Given the description of an element on the screen output the (x, y) to click on. 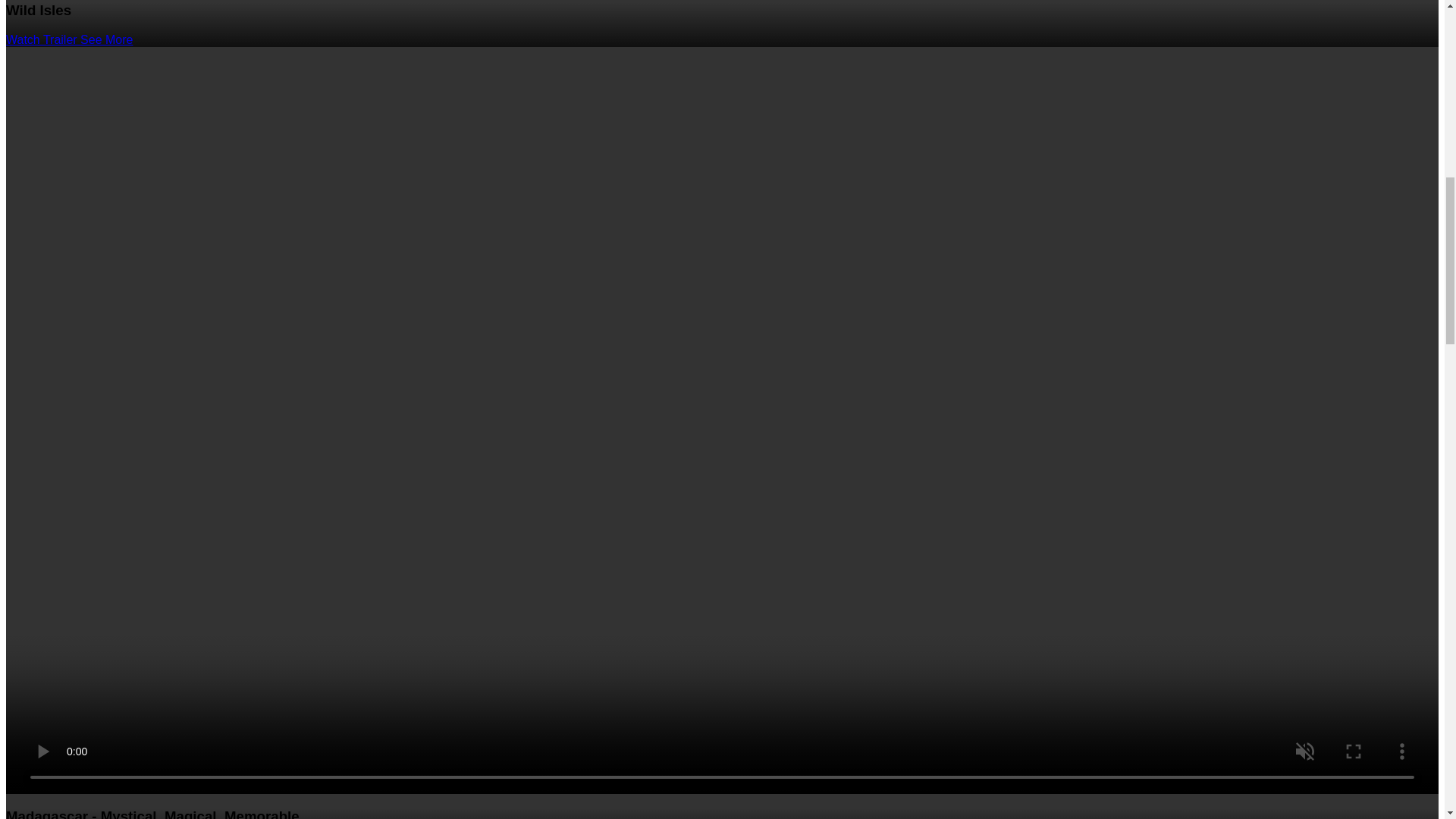
See More (106, 39)
Watch Trailer (42, 39)
